Given the description of an element on the screen output the (x, y) to click on. 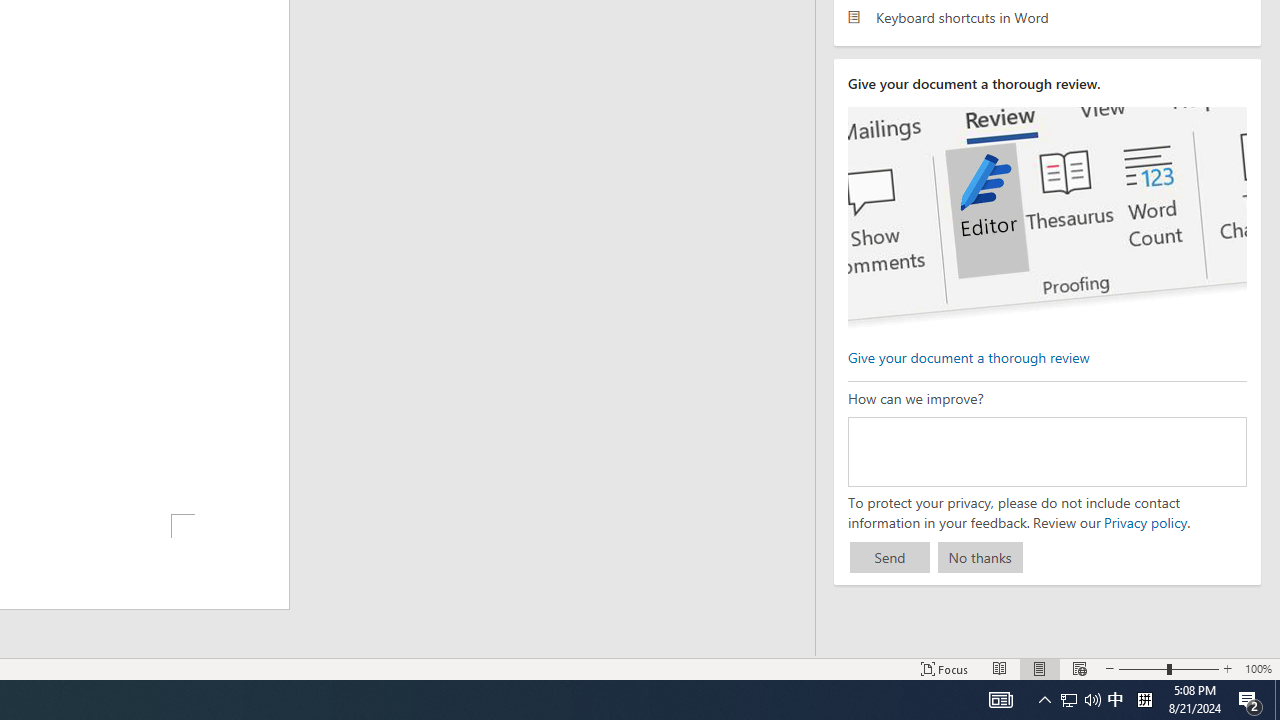
No thanks (980, 557)
How can we improve? (1046, 451)
Zoom 100% (1258, 668)
Keyboard shortcuts in Word (1047, 16)
editor ui screenshot (1046, 218)
Privacy policy (1144, 522)
Give your document a thorough review (968, 356)
Send (889, 557)
